Given the description of an element on the screen output the (x, y) to click on. 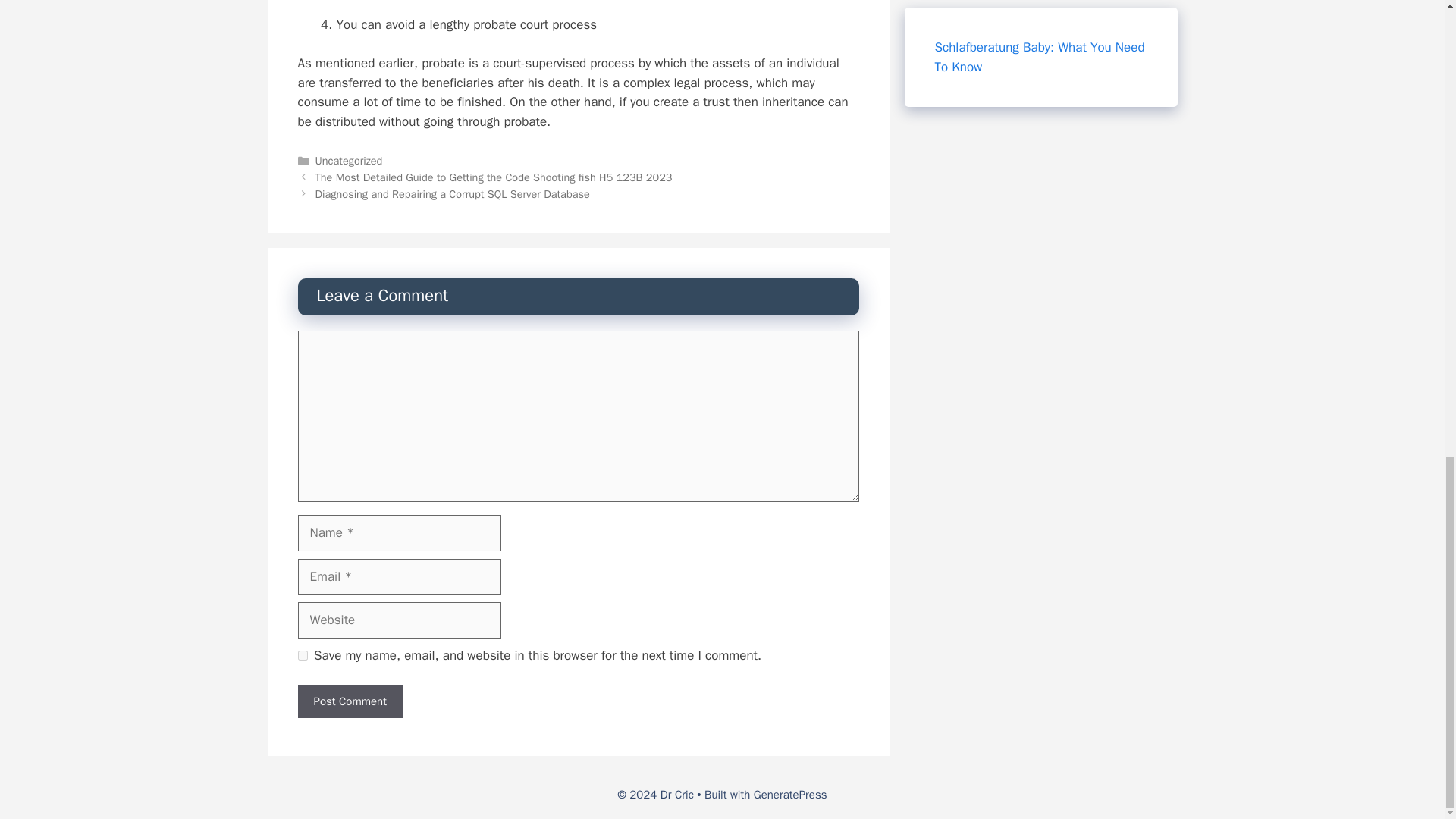
Post Comment (349, 701)
GeneratePress (790, 794)
yes (302, 655)
Diagnosing and Repairing a Corrupt SQL Server Database (452, 193)
Scroll back to top (1406, 499)
Uncategorized (348, 160)
Post Comment (349, 701)
